Given the description of an element on the screen output the (x, y) to click on. 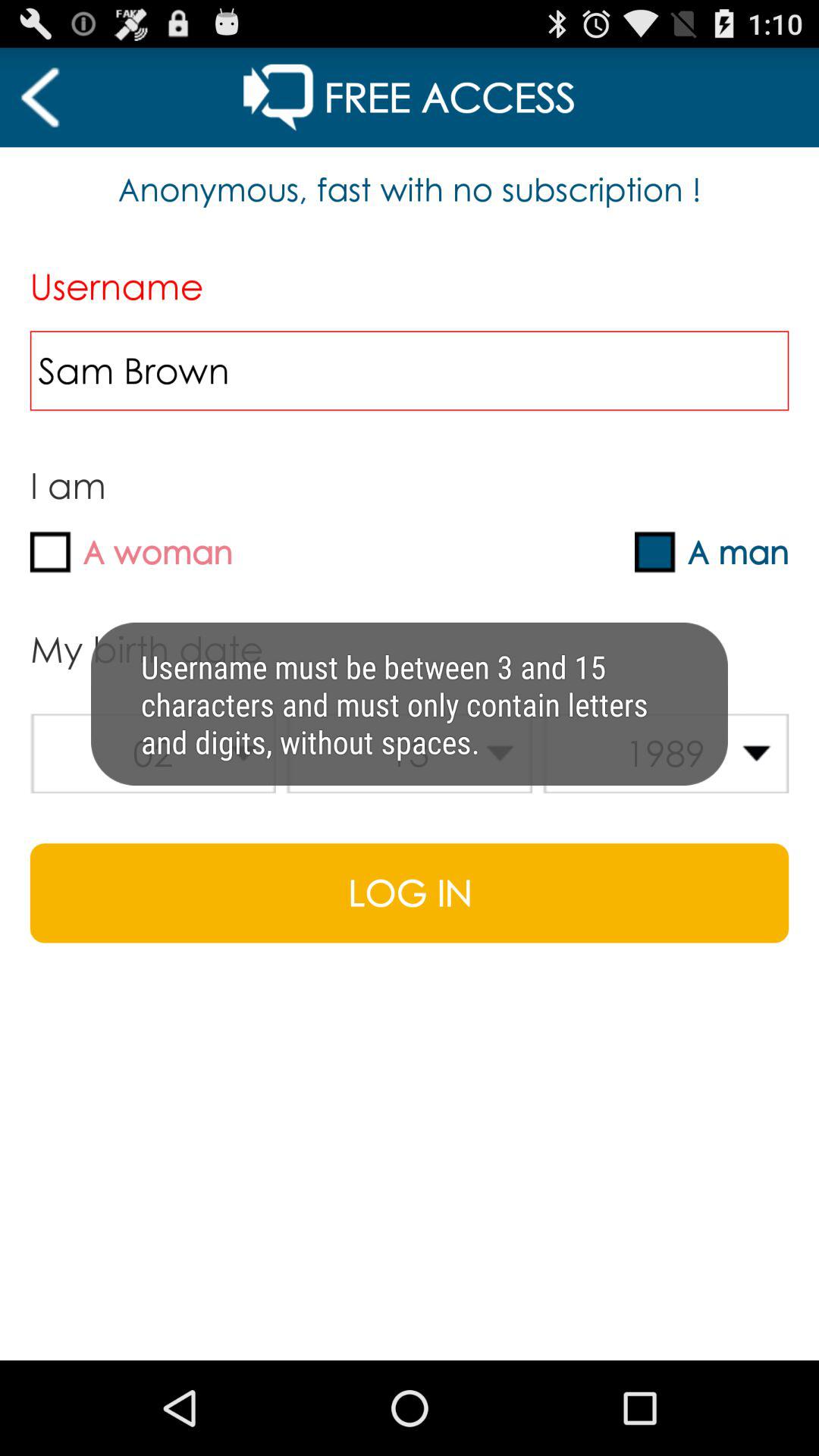
go back (39, 97)
